Given the description of an element on the screen output the (x, y) to click on. 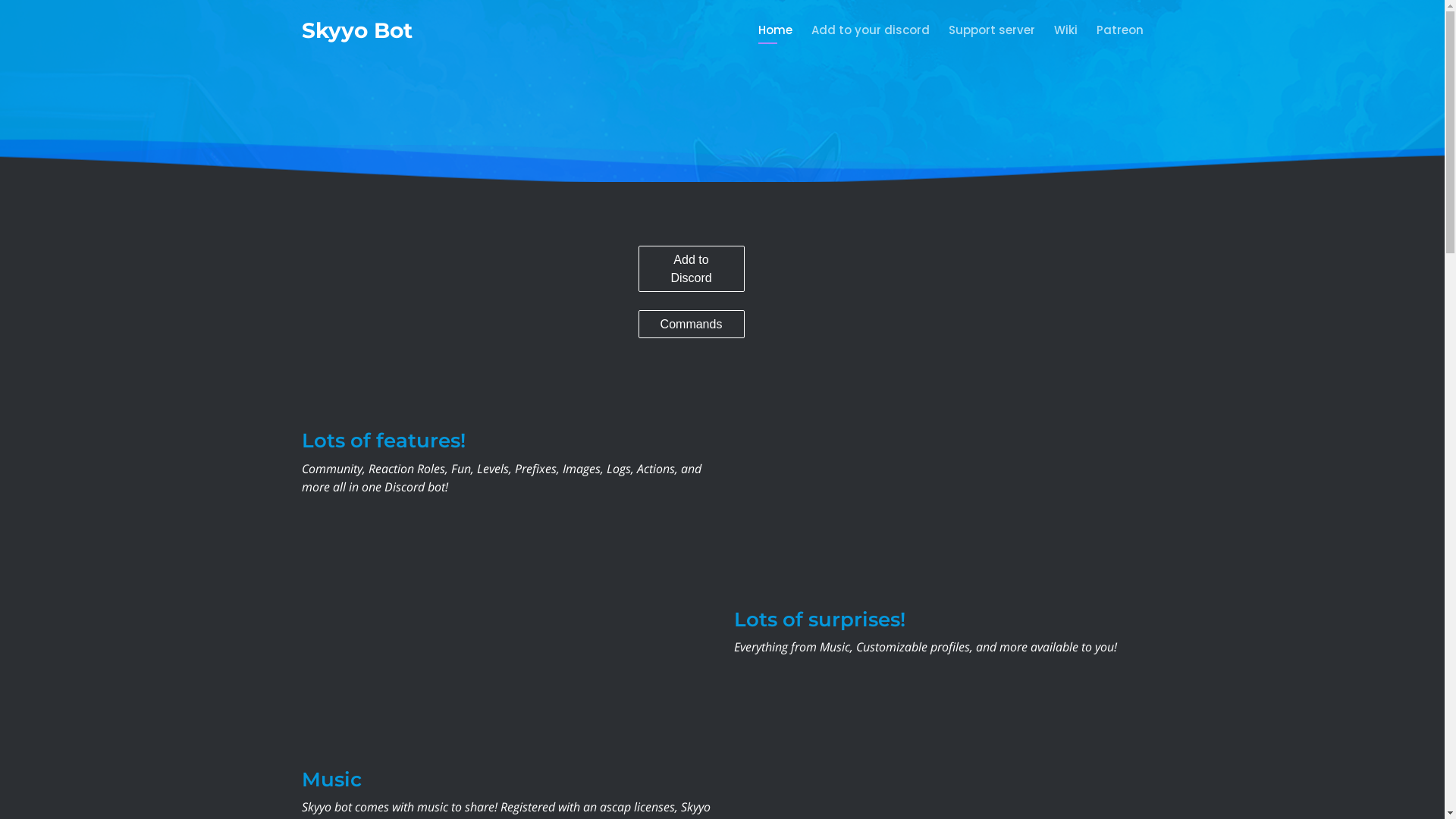
Add to your discord Element type: text (859, 30)
Wiki Element type: text (1055, 30)
Commands Element type: text (691, 324)
Skyyo Bot Element type: text (356, 30)
Home Element type: text (764, 30)
Add to Discord Element type: text (691, 268)
Patreon Element type: text (1109, 30)
Support server Element type: text (982, 30)
